Given the description of an element on the screen output the (x, y) to click on. 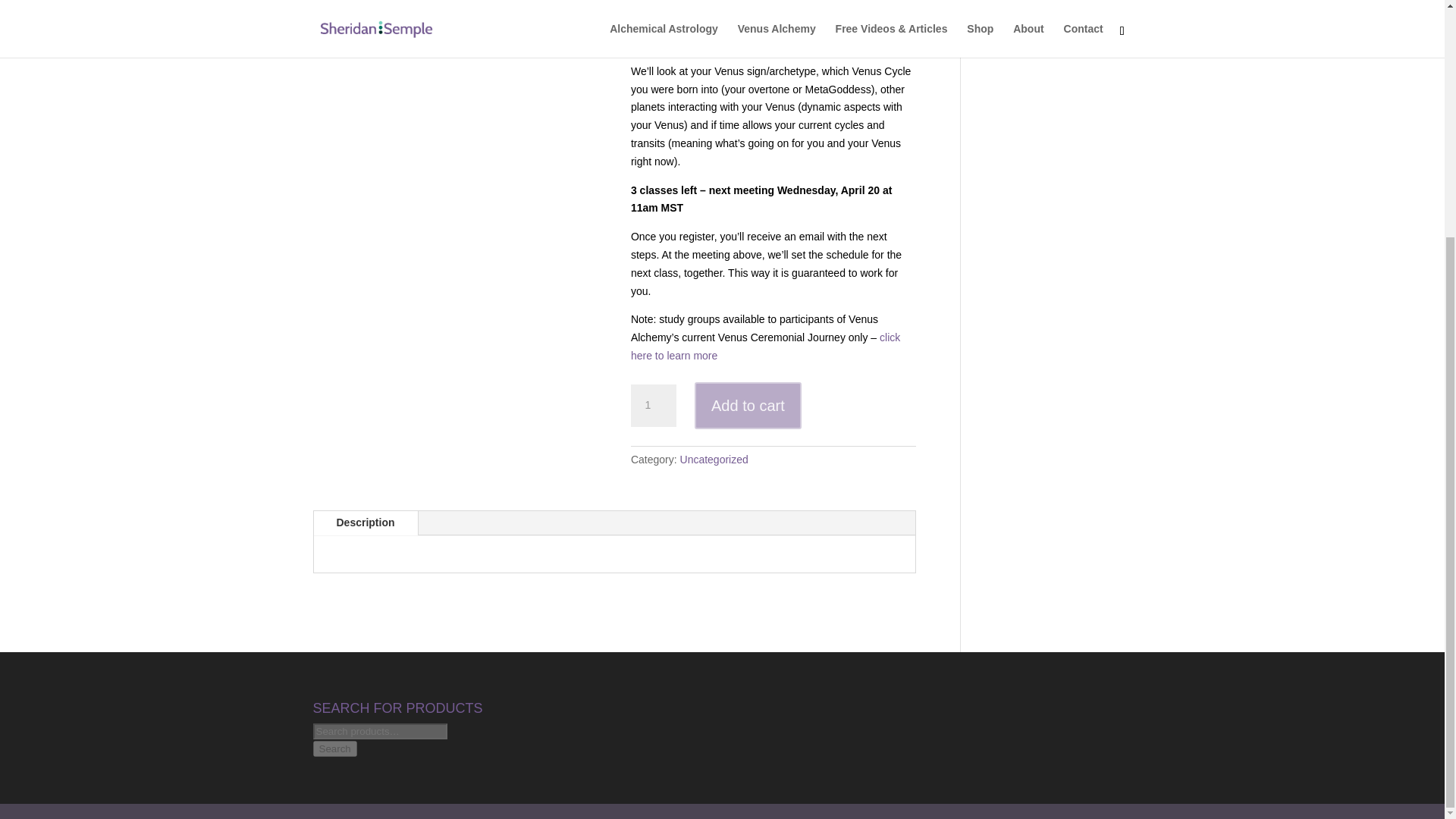
Uncategorized (713, 459)
Description (365, 523)
Search (334, 748)
click here to learn more (764, 346)
1 (653, 405)
Add to cart (748, 405)
